Given the description of an element on the screen output the (x, y) to click on. 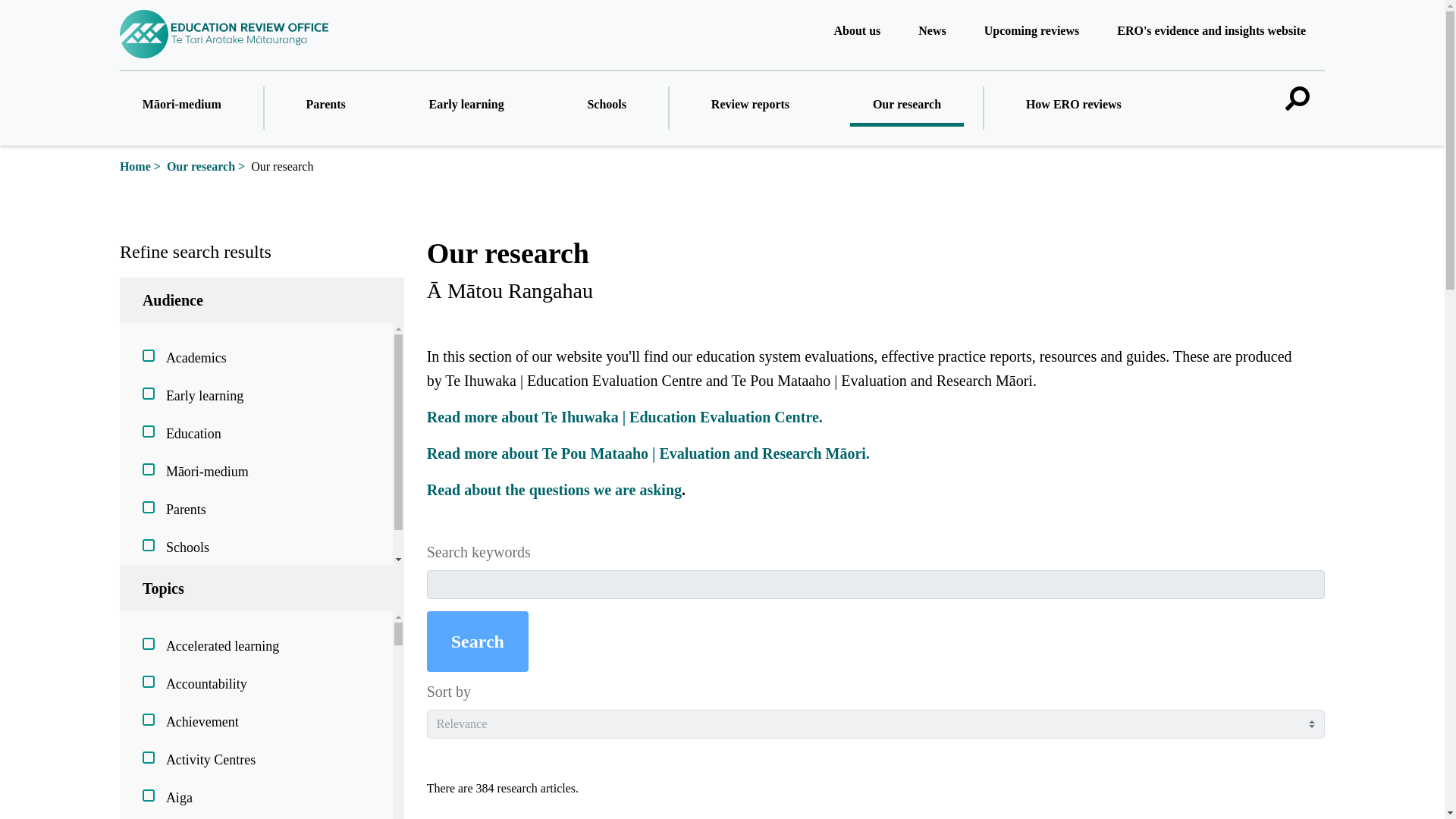
Our research (906, 106)
ERO's evidence and insights website (1211, 33)
on (148, 544)
on (148, 795)
Early learning (466, 106)
on (148, 393)
on (148, 681)
Home (135, 165)
on (148, 469)
Explore ERO's insights and evidence (1211, 33)
Schools (606, 106)
About us (856, 33)
Upcoming reviews (1031, 33)
Our research (200, 165)
